Given the description of an element on the screen output the (x, y) to click on. 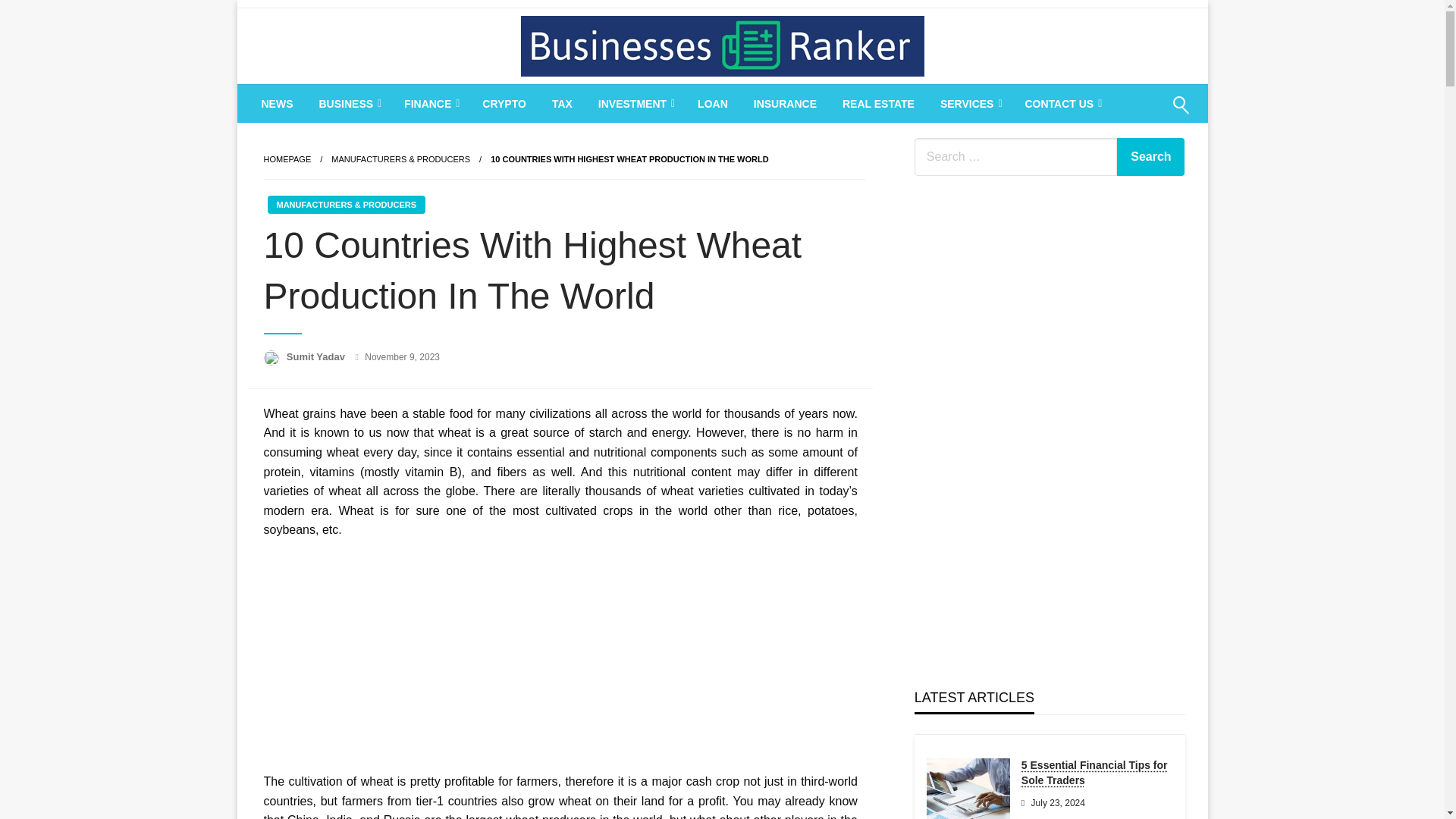
SERVICES (969, 103)
BUSINESS (348, 103)
Search (1144, 114)
Search (1150, 157)
Homepage (287, 158)
Businesses Ranker (650, 103)
INVESTMENT (634, 103)
NEWS (276, 103)
LOAN (712, 103)
FINANCE (429, 103)
TAX (561, 103)
INSURANCE (785, 103)
November 9, 2023 (402, 357)
REAL ESTATE (878, 103)
CONTACT US (1061, 103)
